Given the description of an element on the screen output the (x, y) to click on. 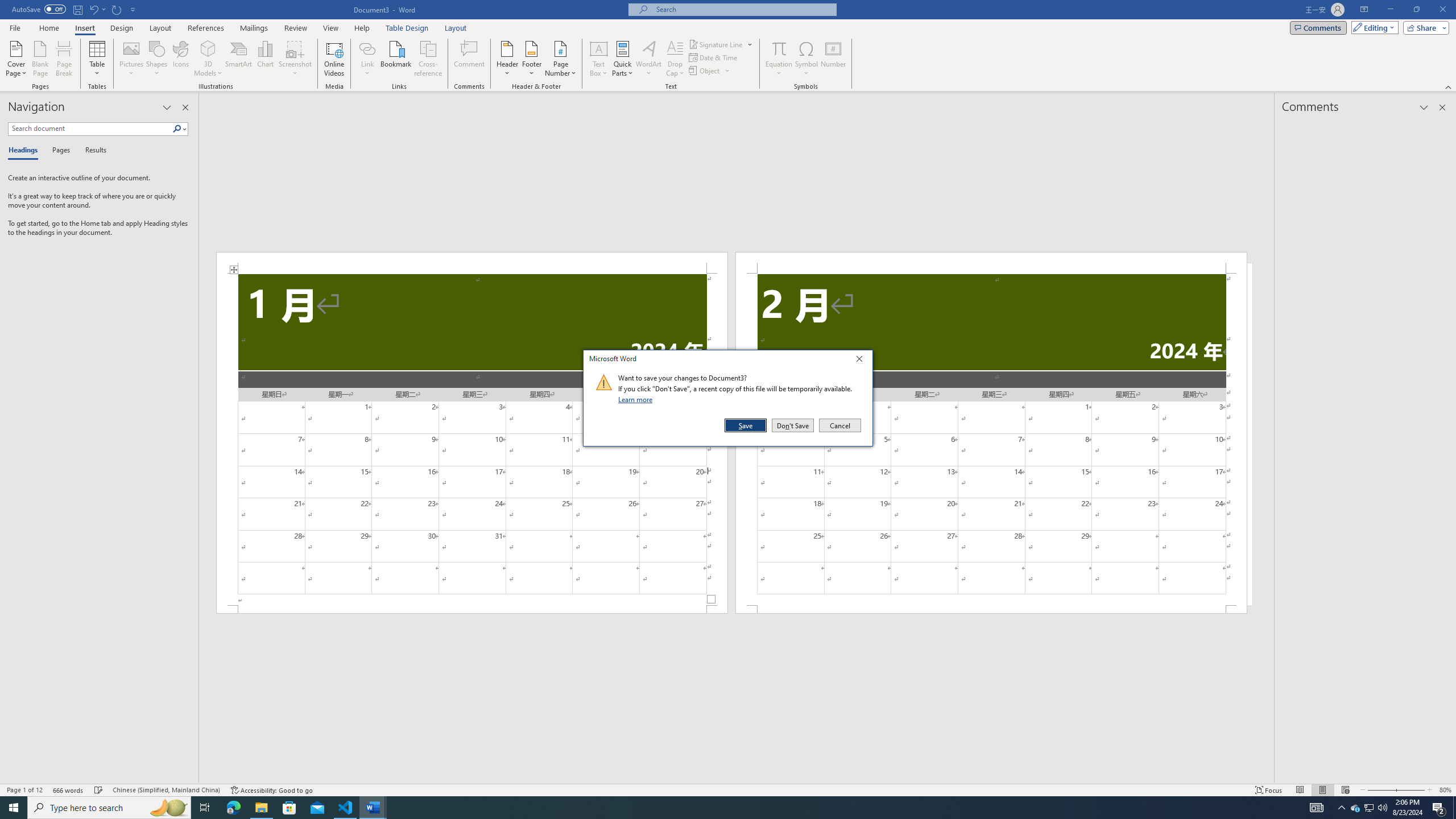
Blank Page (40, 58)
Start (13, 807)
Chart... (265, 58)
3D Models (208, 58)
Table (97, 58)
3D Models (208, 48)
Icons (180, 58)
Text Box (598, 58)
Object... (709, 69)
